Given the description of an element on the screen output the (x, y) to click on. 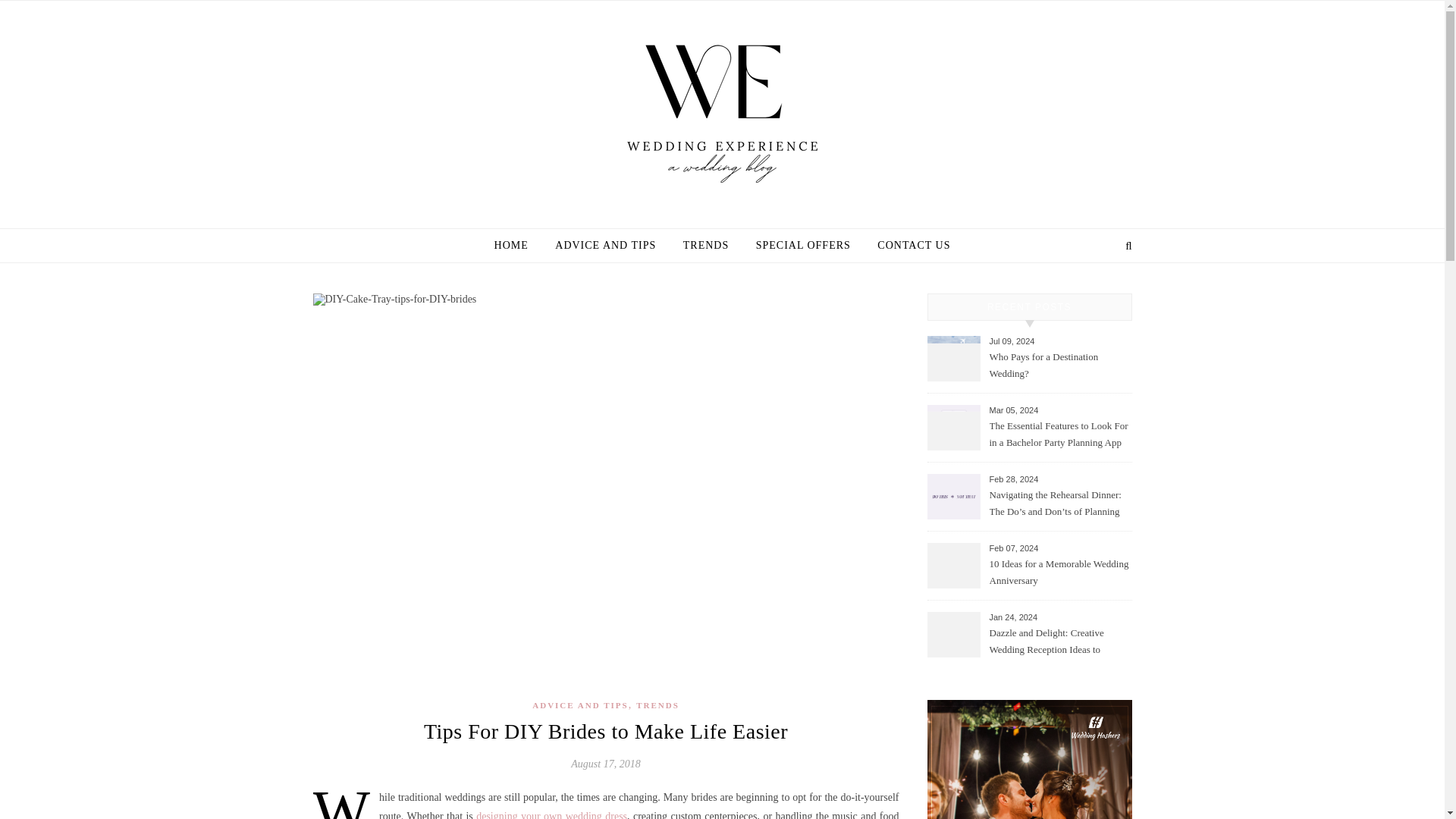
ADVICE AND TIPS (605, 245)
TRENDS (706, 245)
HOME (517, 245)
TRENDS (657, 705)
Wedding-Experience (722, 106)
designing your own wedding dress (551, 814)
ADVICE AND TIPS (579, 705)
10 Ideas for a Memorable Wedding Anniversary (1058, 573)
Who Pays for a Destination Wedding? (1058, 366)
SPECIAL OFFERS (803, 245)
